Given the description of an element on the screen output the (x, y) to click on. 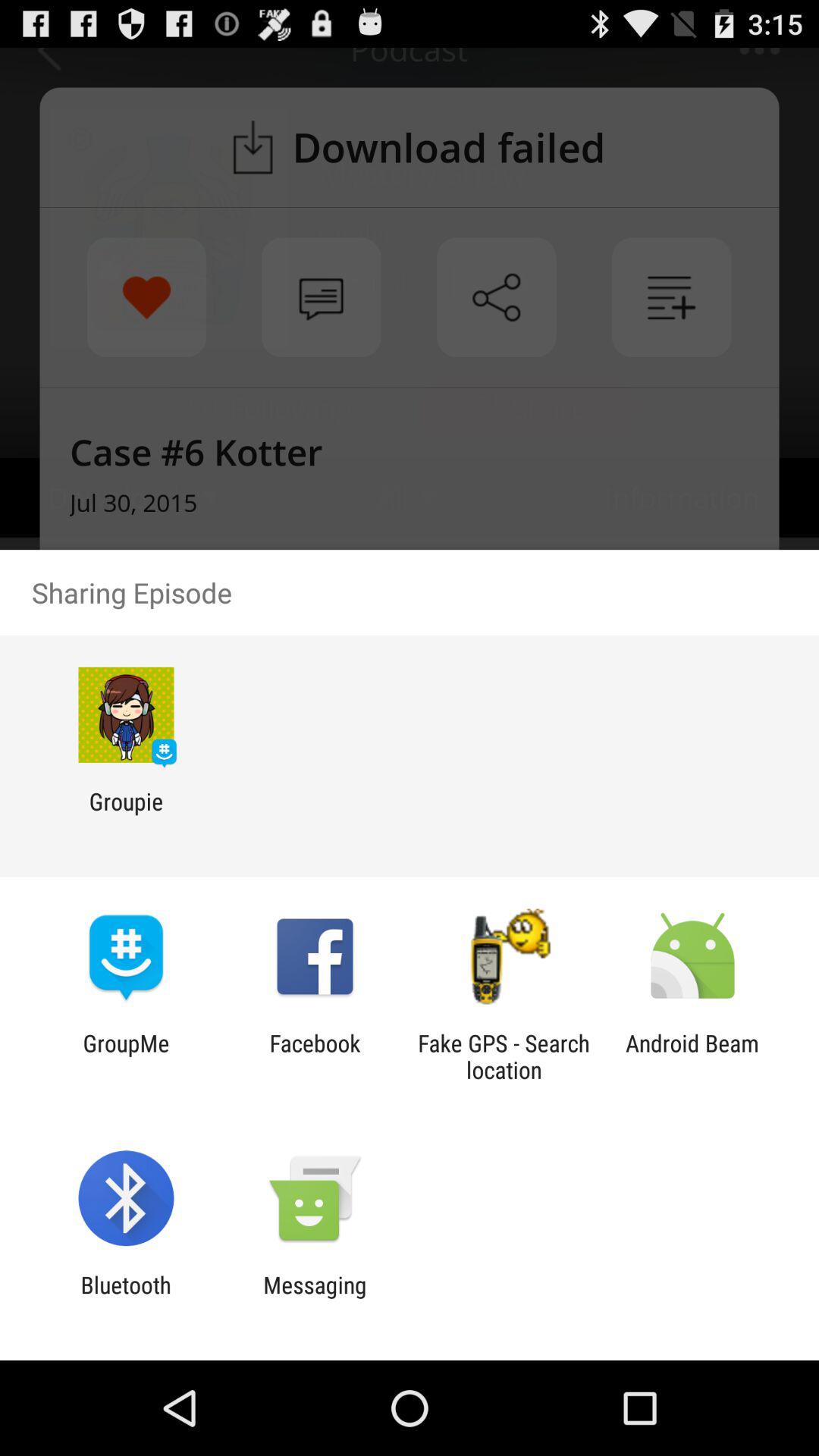
tap icon next to fake gps search icon (314, 1056)
